Given the description of an element on the screen output the (x, y) to click on. 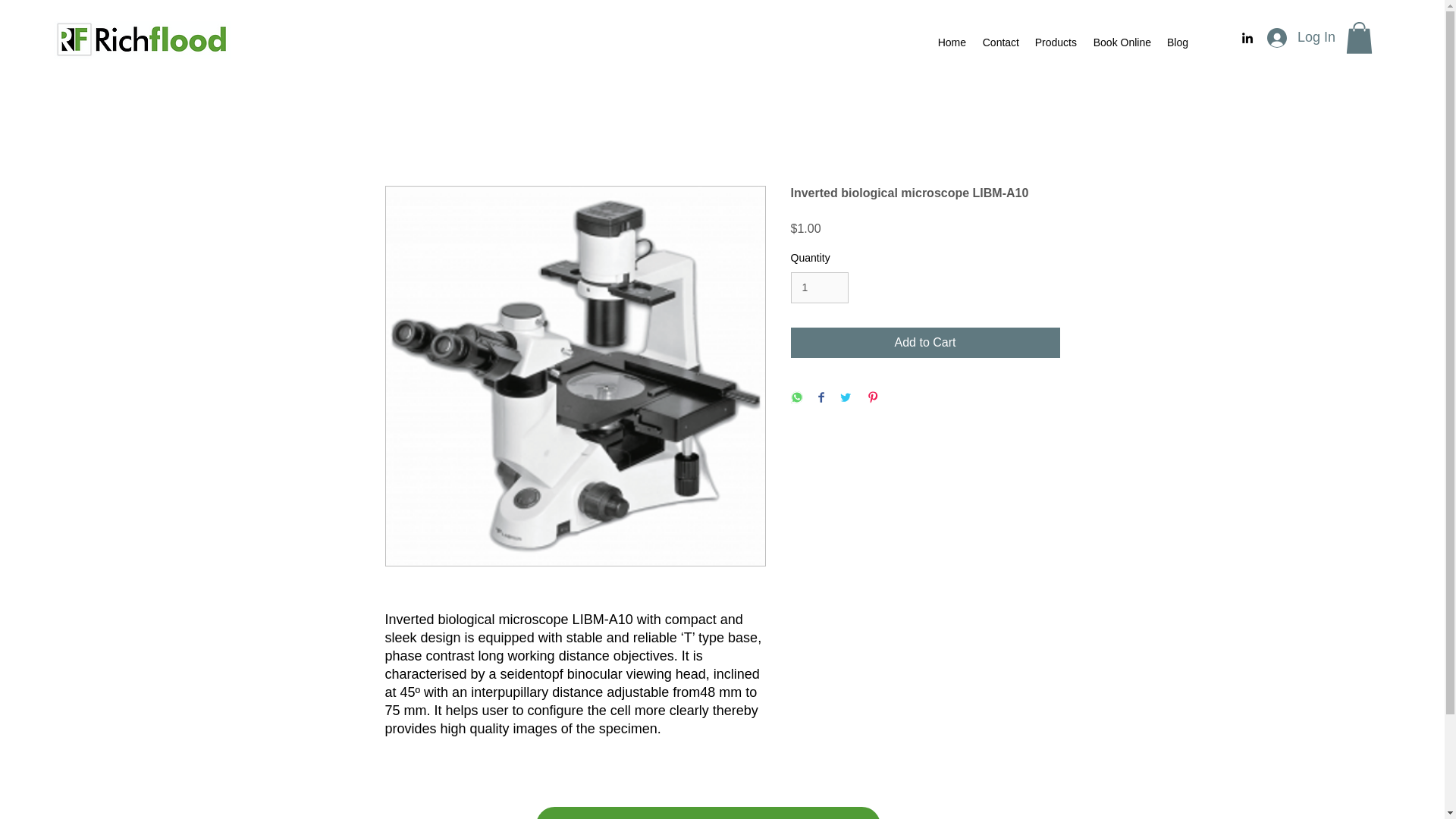
Products (1055, 42)
Log In (1300, 37)
Add to Cart (924, 342)
Book Online (1121, 42)
Contact (1000, 42)
Blog (1176, 42)
1 (818, 287)
Browse Our Client Base (707, 812)
Home (952, 42)
